Given the description of an element on the screen output the (x, y) to click on. 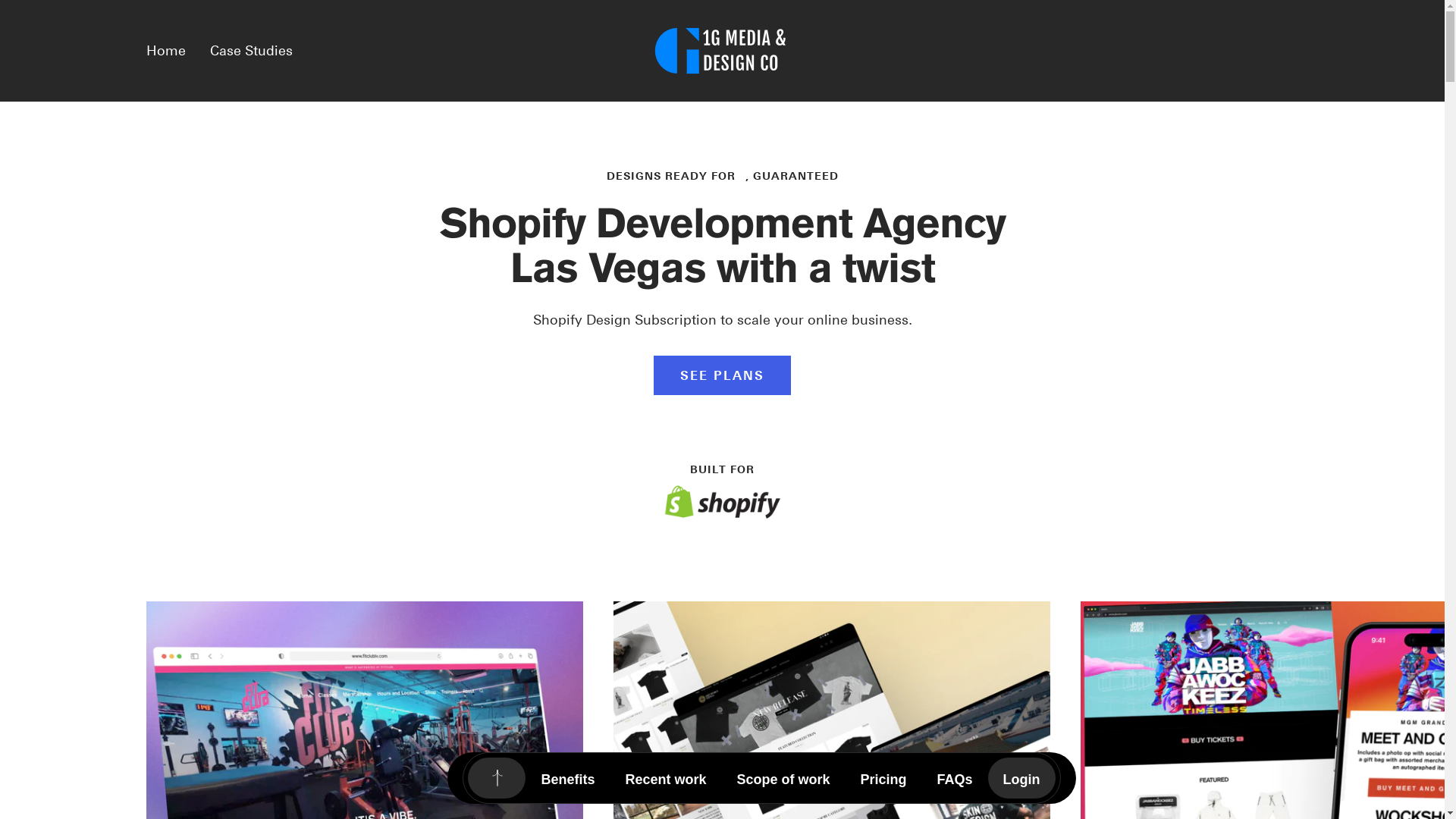
Benefits Element type: text (567, 777)
Case Studies Element type: text (250, 50)
FAQs Element type: text (955, 777)
SEE PLANS Element type: text (721, 375)
Pricing Element type: text (883, 777)
Home Element type: text (165, 50)
Recent work Element type: text (665, 777)
Scope of work Element type: text (783, 777)
1G Media Element type: text (722, 50)
Login Element type: text (1021, 777)
